Given the description of an element on the screen output the (x, y) to click on. 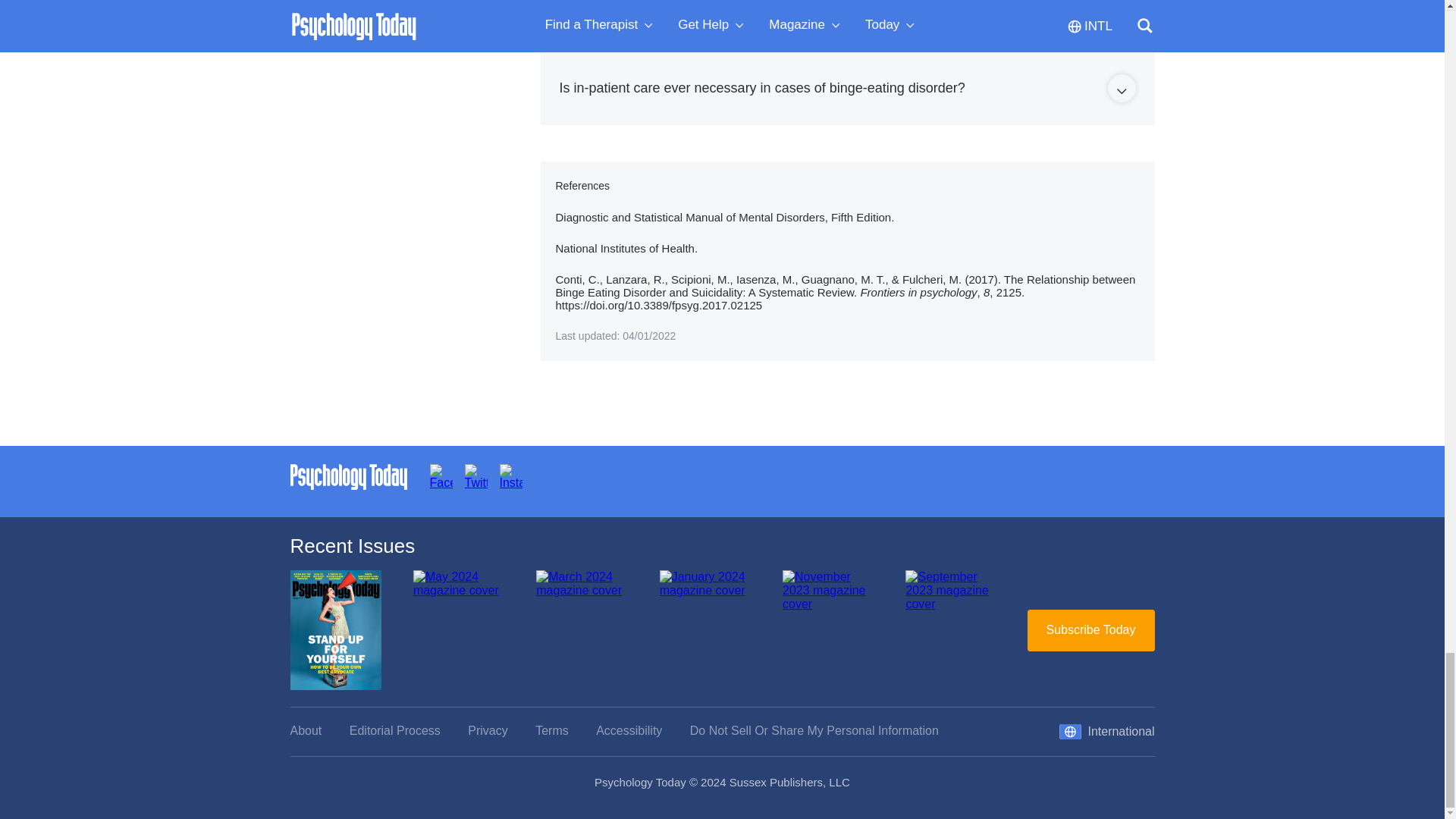
Created with Sketch. (1120, 91)
